Given the description of an element on the screen output the (x, y) to click on. 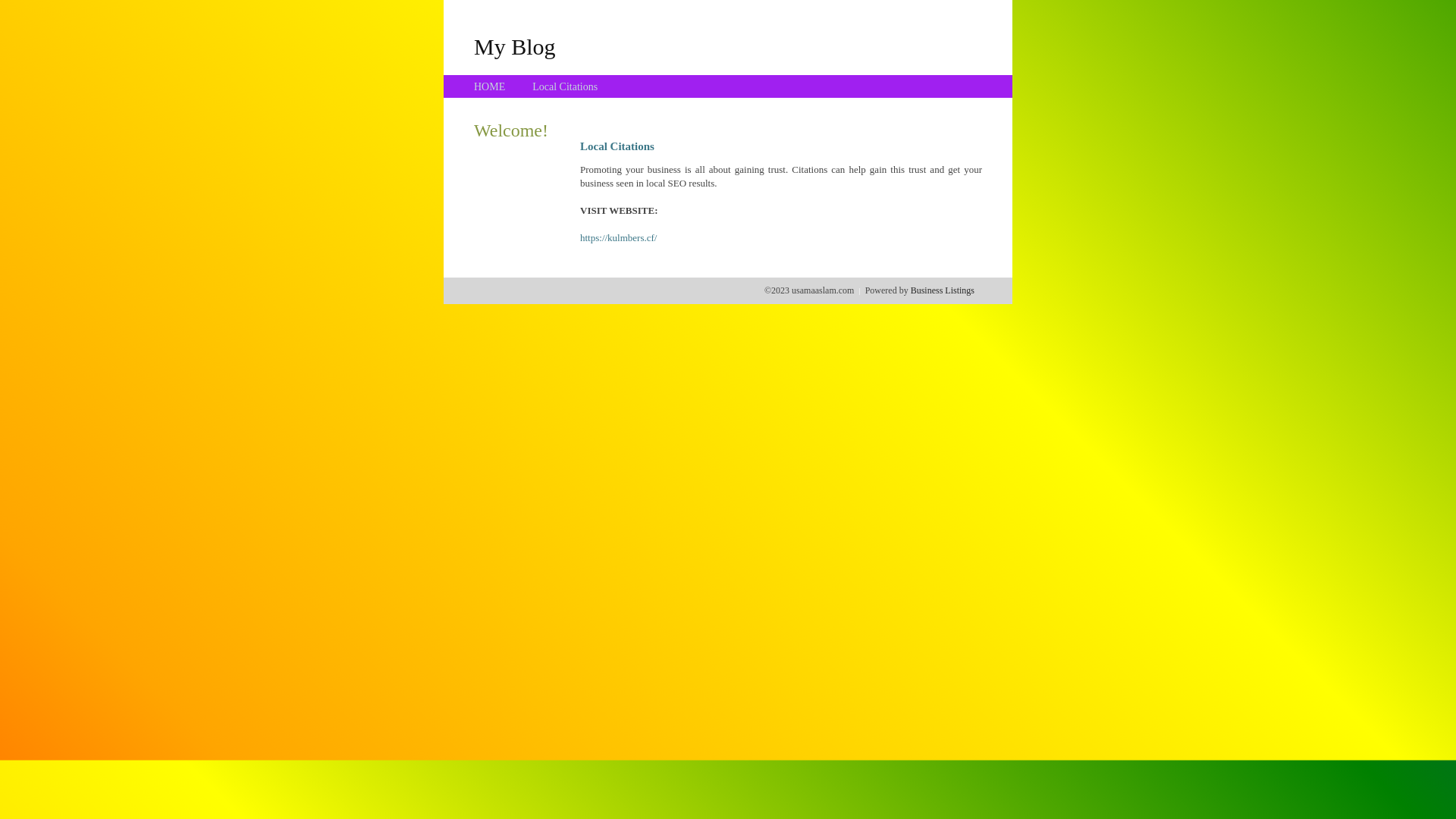
My Blog Element type: text (514, 46)
Business Listings Element type: text (942, 290)
https://kulmbers.cf/ Element type: text (618, 237)
Local Citations Element type: text (564, 86)
HOME Element type: text (489, 86)
